Given the description of an element on the screen output the (x, y) to click on. 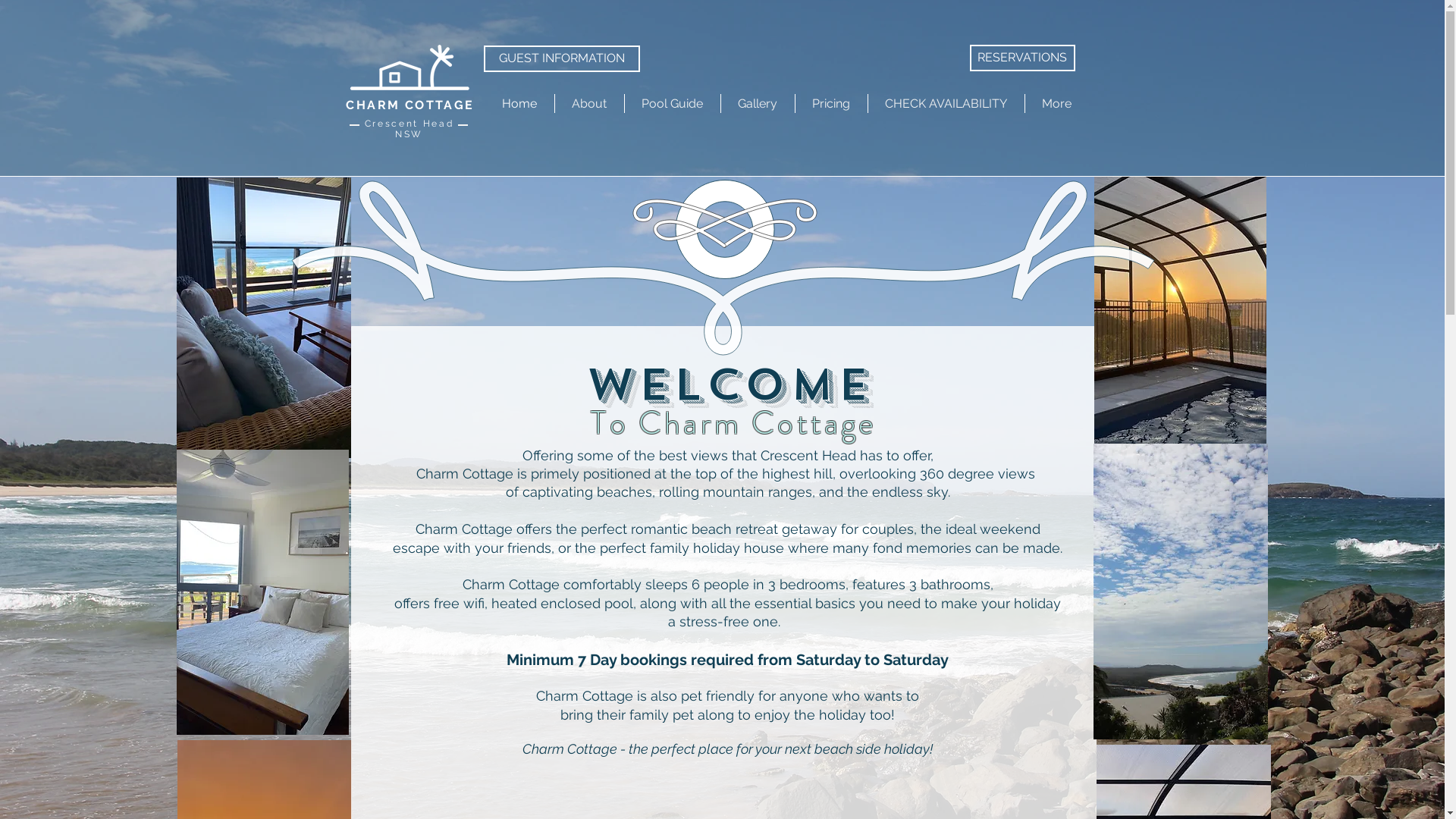
Pricing Element type: text (830, 103)
GUEST INFORMATION Element type: text (561, 58)
Crescent Head Element type: text (408, 123)
RESERVATIONS Element type: text (1021, 57)
Home Element type: text (519, 103)
CHECK AVAILABILITY Element type: text (945, 103)
Gallery Element type: text (756, 103)
Pool Guide Element type: text (672, 103)
About Element type: text (589, 103)
